Given the description of an element on the screen output the (x, y) to click on. 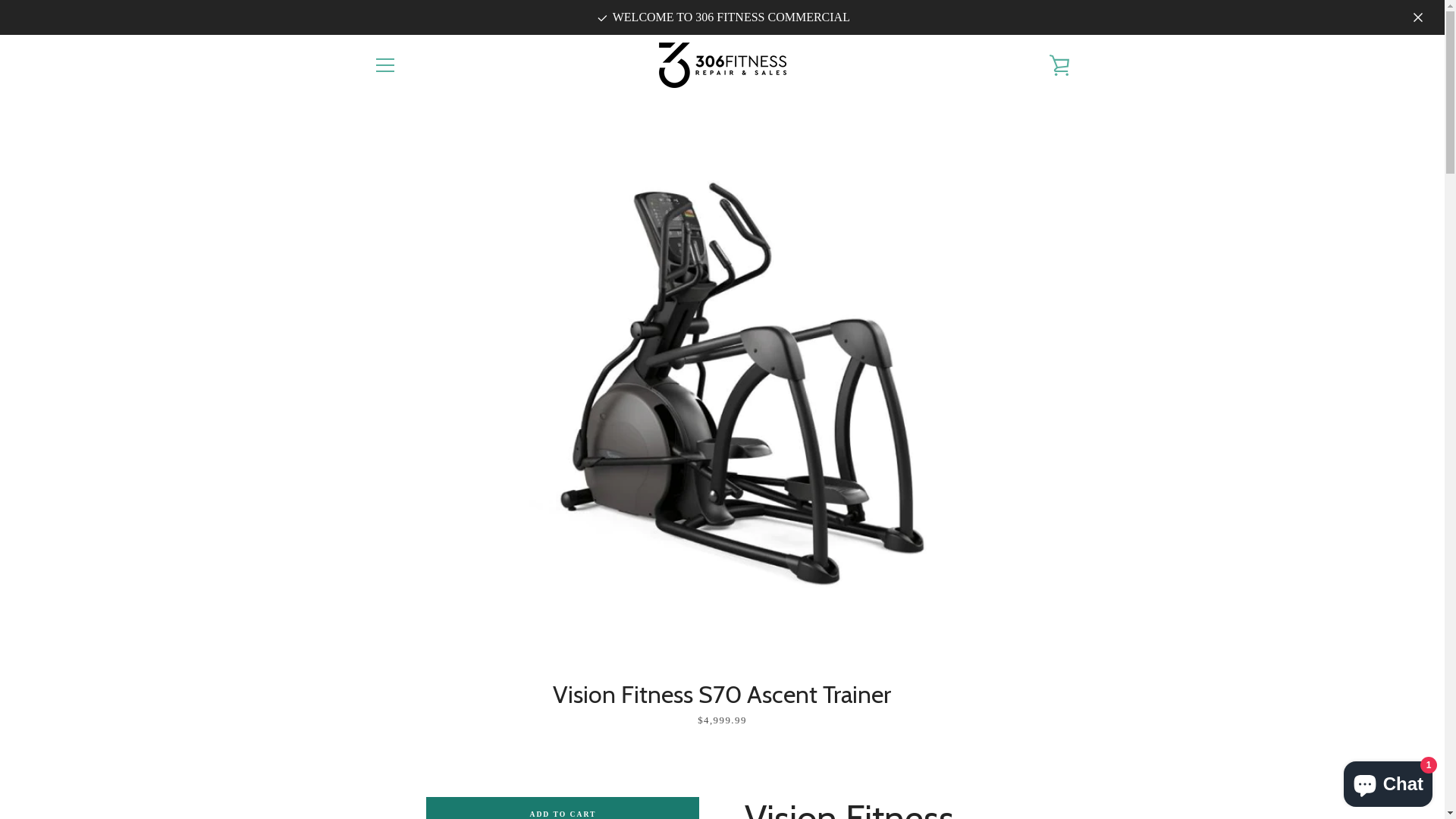
Shopify online store chat Element type: hover (1388, 780)
VIEW CART Element type: text (1059, 65)
MENU Element type: text (384, 65)
Skip to content Element type: text (0, 0)
